Given the description of an element on the screen output the (x, y) to click on. 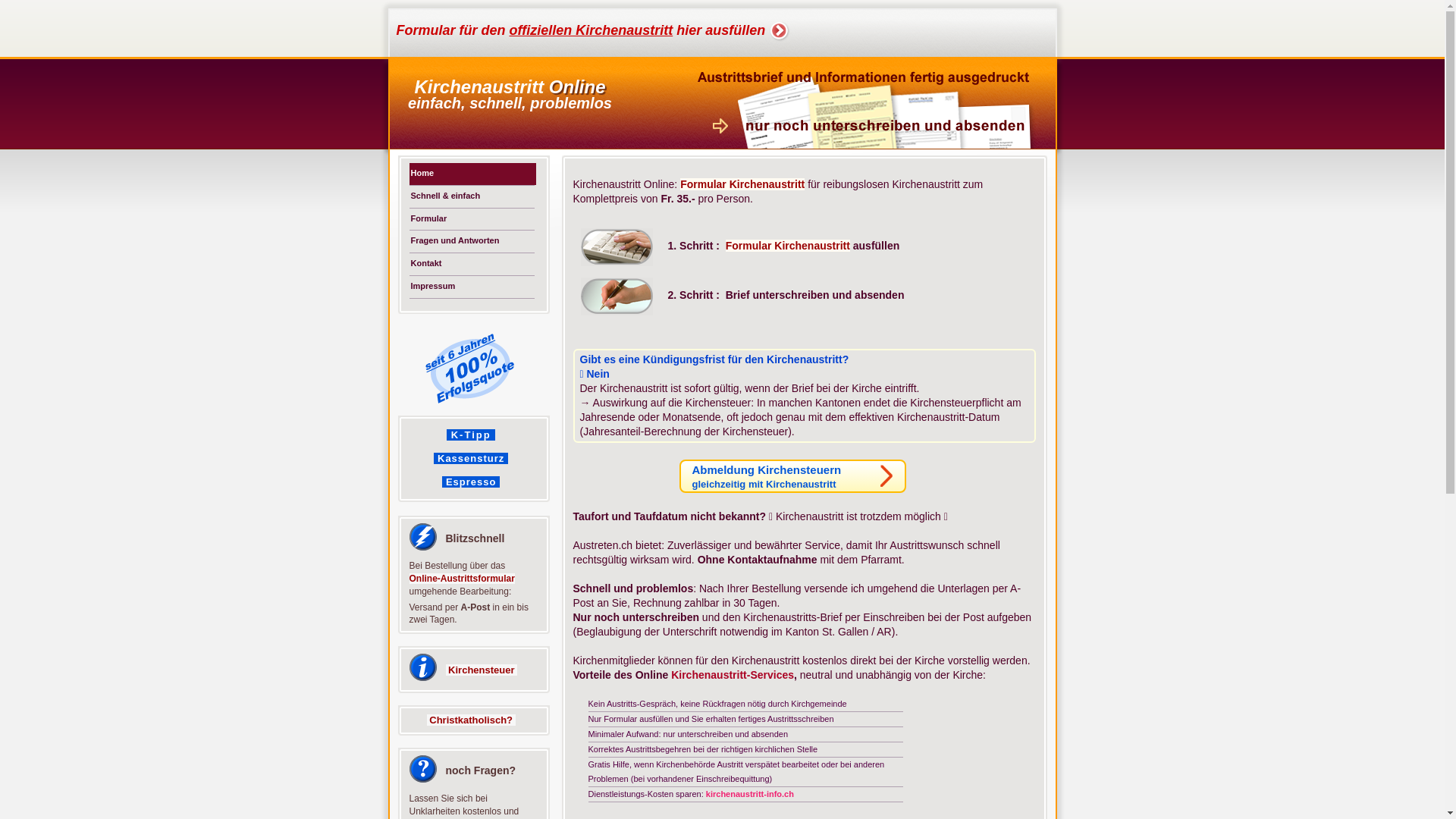
Home Element type: text (472, 174)
 Espresso  Element type: text (470, 481)
Kontakt Element type: text (472, 264)
Fragen und Antworten Element type: text (472, 241)
 Kirchensteuer  Element type: text (481, 669)
Online-Austrittsformular Element type: text (461, 578)
 Kassensturz  Element type: text (470, 457)
 Christkatholisch?  Element type: text (470, 719)
 K-Tipp  Element type: text (470, 434)
Formular Element type: text (472, 218)
Formular Kirchenaustritt Element type: text (787, 245)
Kirchenaustritt-Services Element type: text (732, 674)
Abmeldung Kirchensteuern
gleichzeitig mit Kirchenaustritt Element type: text (792, 476)
kirchenaustritt-info.ch Element type: text (749, 792)
Impressum Element type: text (472, 287)
Formular Kirchenaustritt Element type: text (742, 184)
Schnell & einfach Element type: text (472, 196)
